Given the description of an element on the screen output the (x, y) to click on. 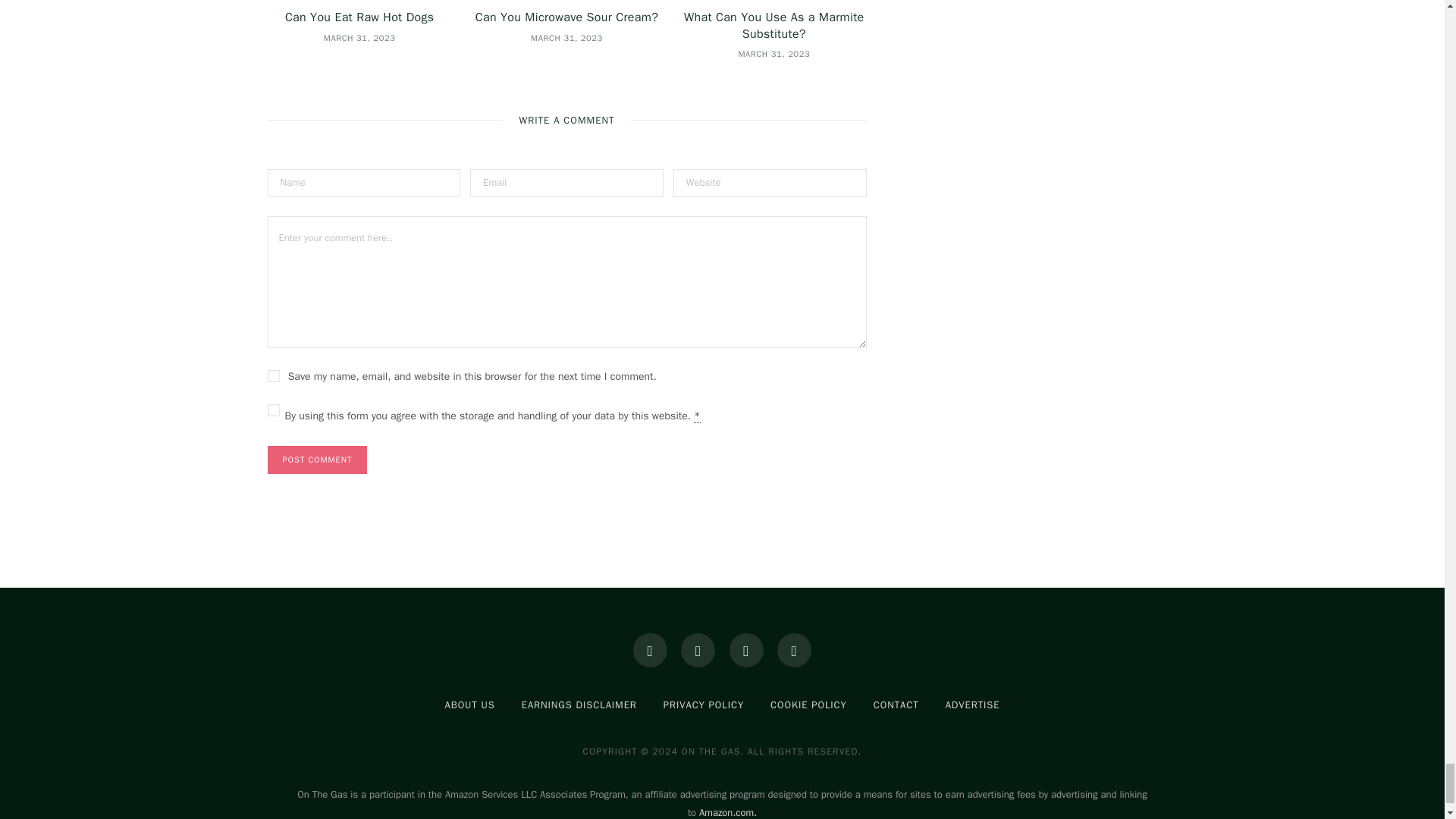
yes (272, 376)
Pinterest (745, 650)
YouTube (793, 650)
Post Comment (316, 459)
Facebook (649, 650)
1 (272, 410)
Instagram (697, 650)
